Given the description of an element on the screen output the (x, y) to click on. 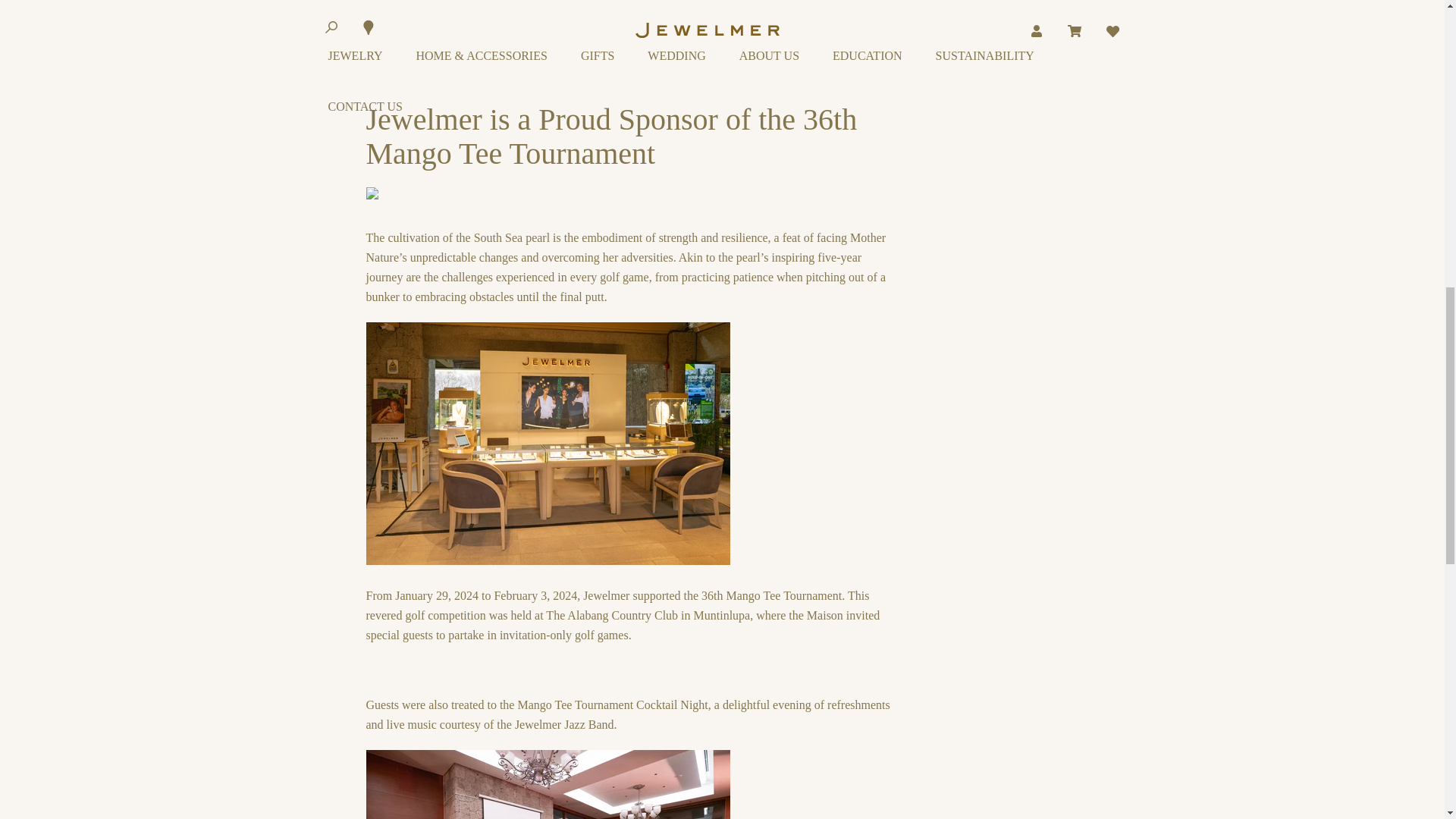
Show articles tagged Press Release (532, 92)
